Given the description of an element on the screen output the (x, y) to click on. 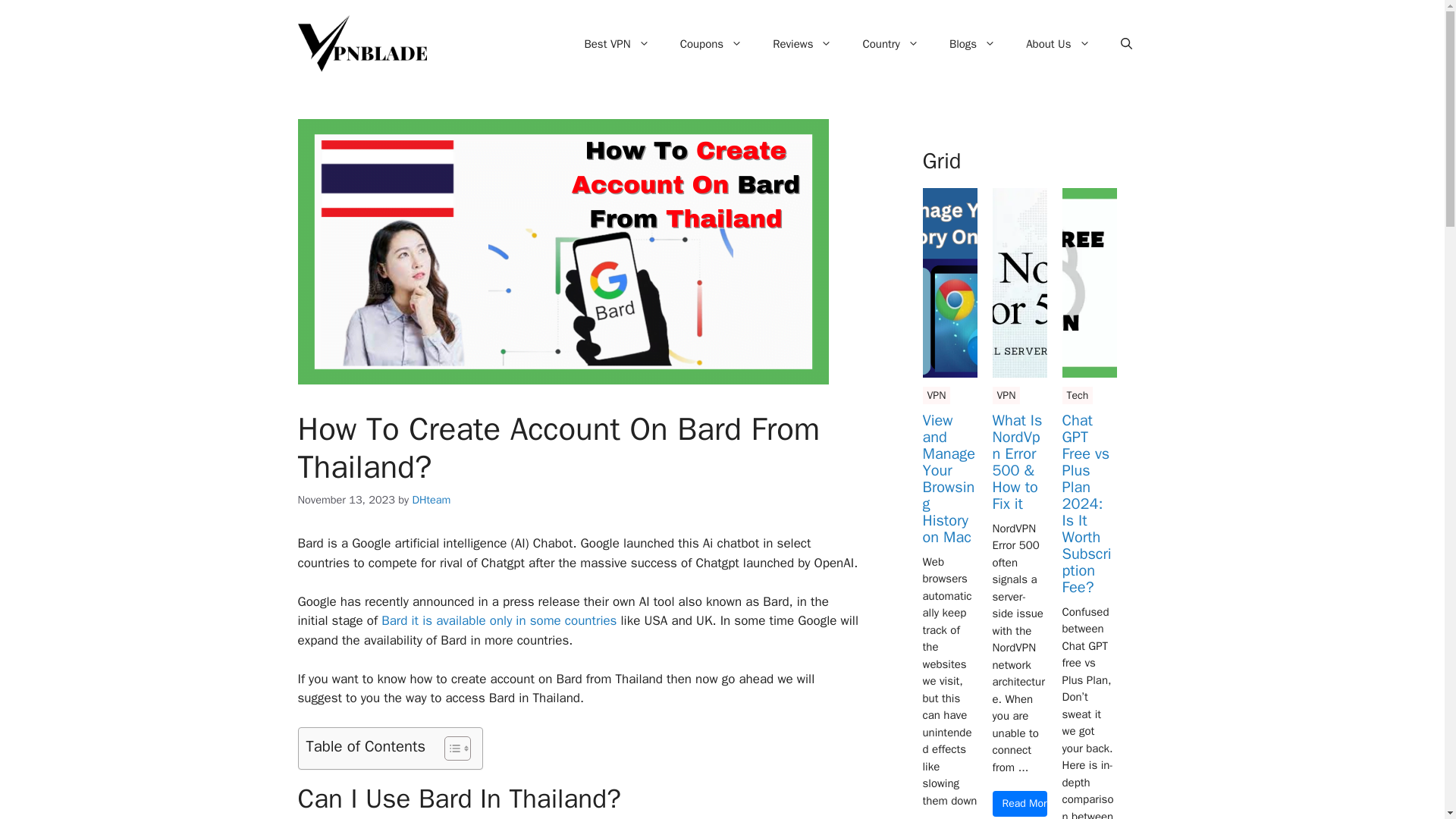
Coupons (711, 43)
Best VPN (616, 43)
View all posts by DHteam (430, 499)
